Given the description of an element on the screen output the (x, y) to click on. 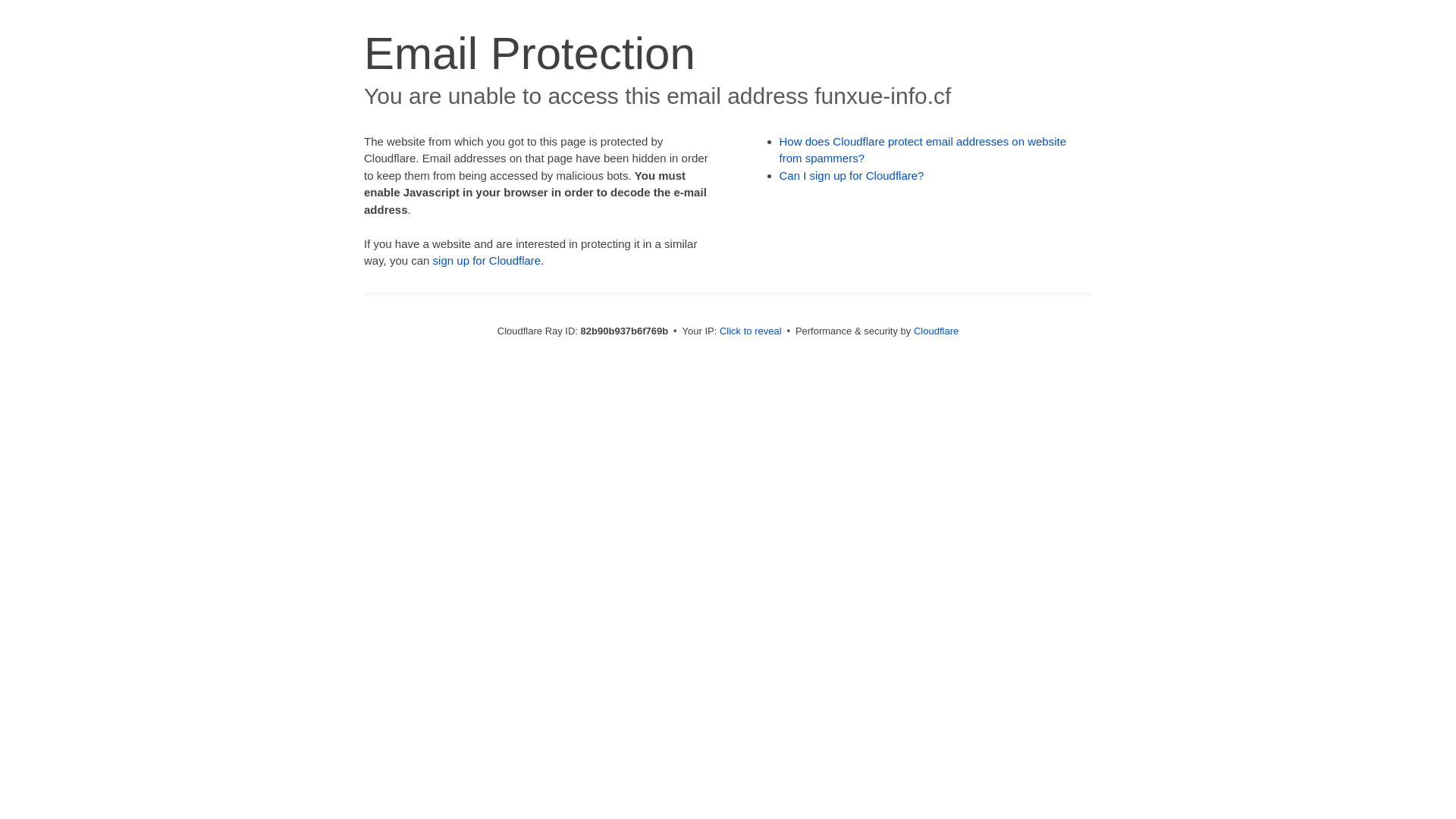
Can I sign up for Cloudflare? Element type: text (851, 175)
Click to reveal Element type: text (750, 330)
sign up for Cloudflare Element type: text (487, 260)
Cloudflare Element type: text (935, 330)
